Given the description of an element on the screen output the (x, y) to click on. 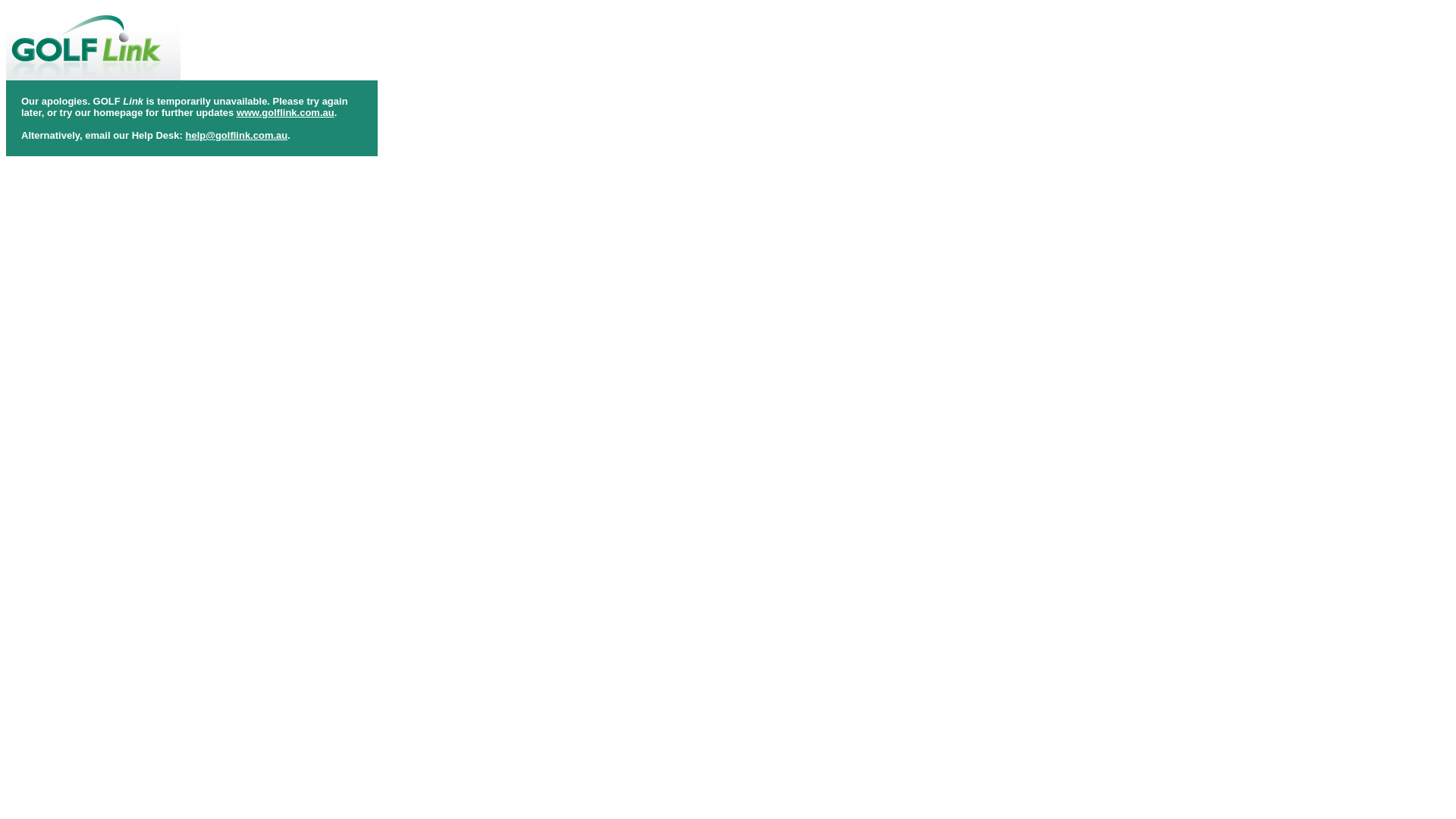
help@golflink.com.au Element type: text (236, 135)
www.golflink.com.au Element type: text (285, 112)
